Given the description of an element on the screen output the (x, y) to click on. 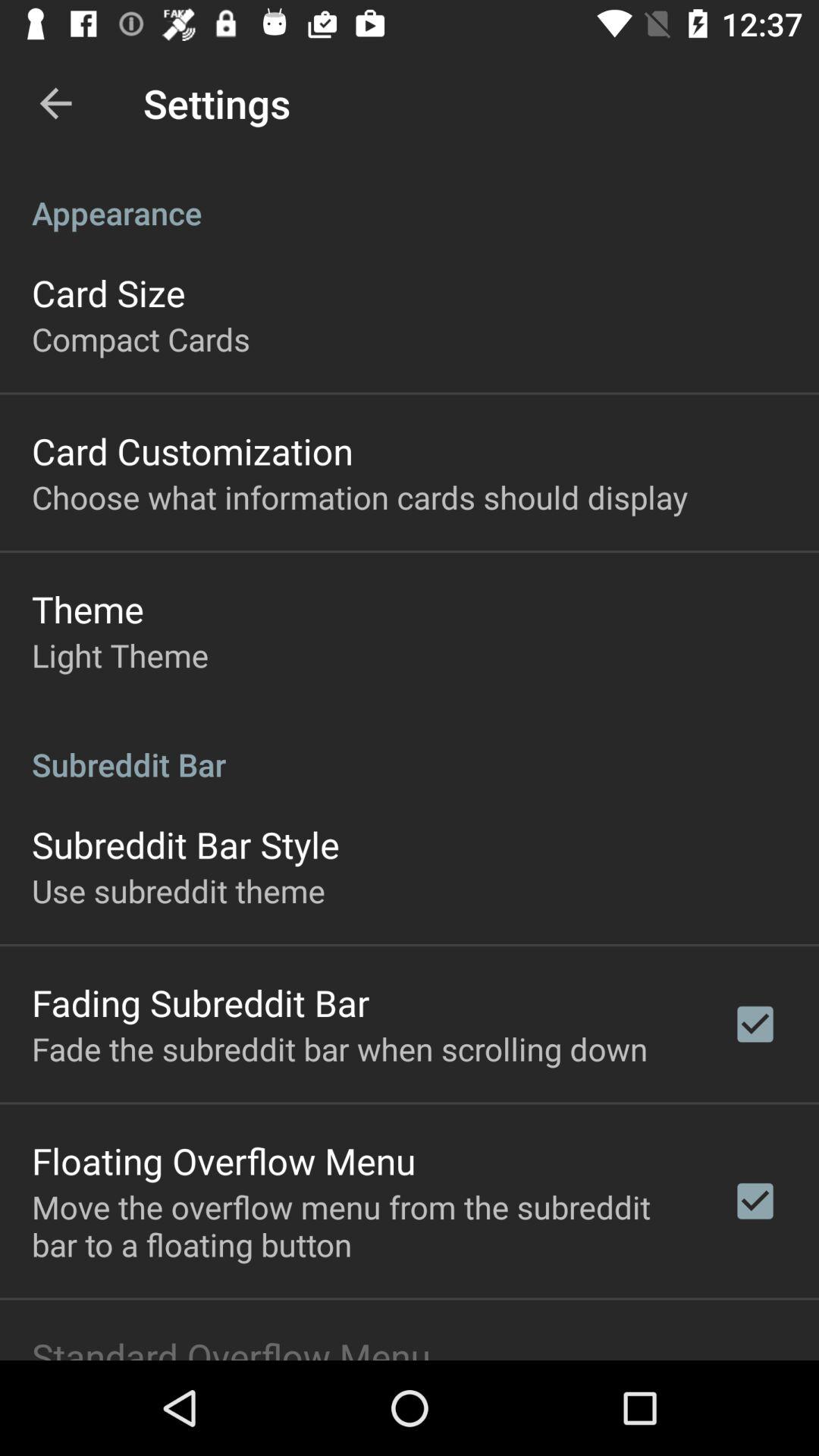
launch icon above the theme app (359, 496)
